Given the description of an element on the screen output the (x, y) to click on. 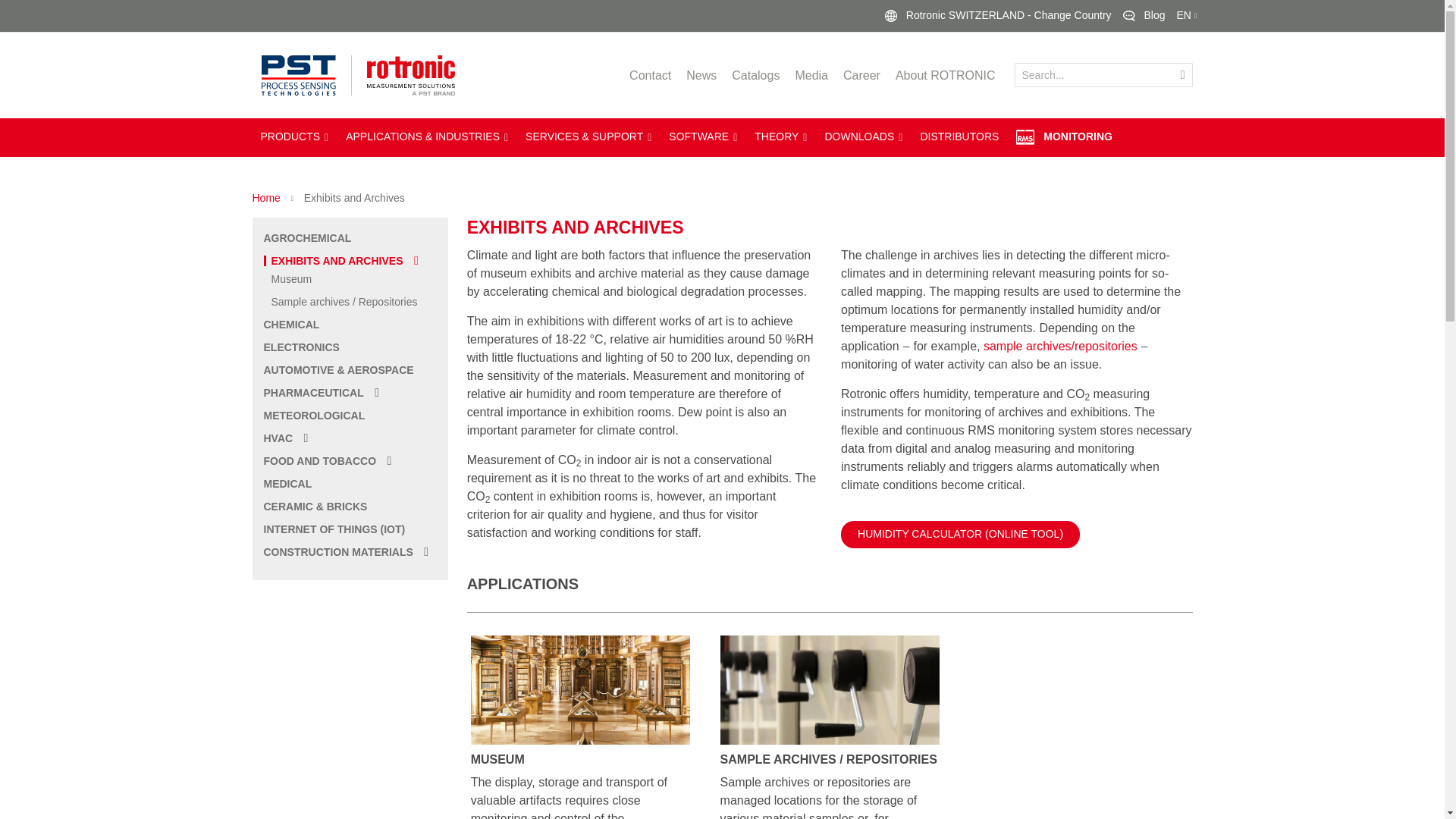
About ROTRONIC (945, 74)
Contact (649, 74)
Catalogs (755, 74)
PST LOGO (306, 75)
Home (266, 197)
News (700, 74)
Career (861, 74)
Blog (1144, 15)
PRODUCTS (293, 136)
Rotronic SWITZERLAND - Change Country (998, 15)
